Given the description of an element on the screen output the (x, y) to click on. 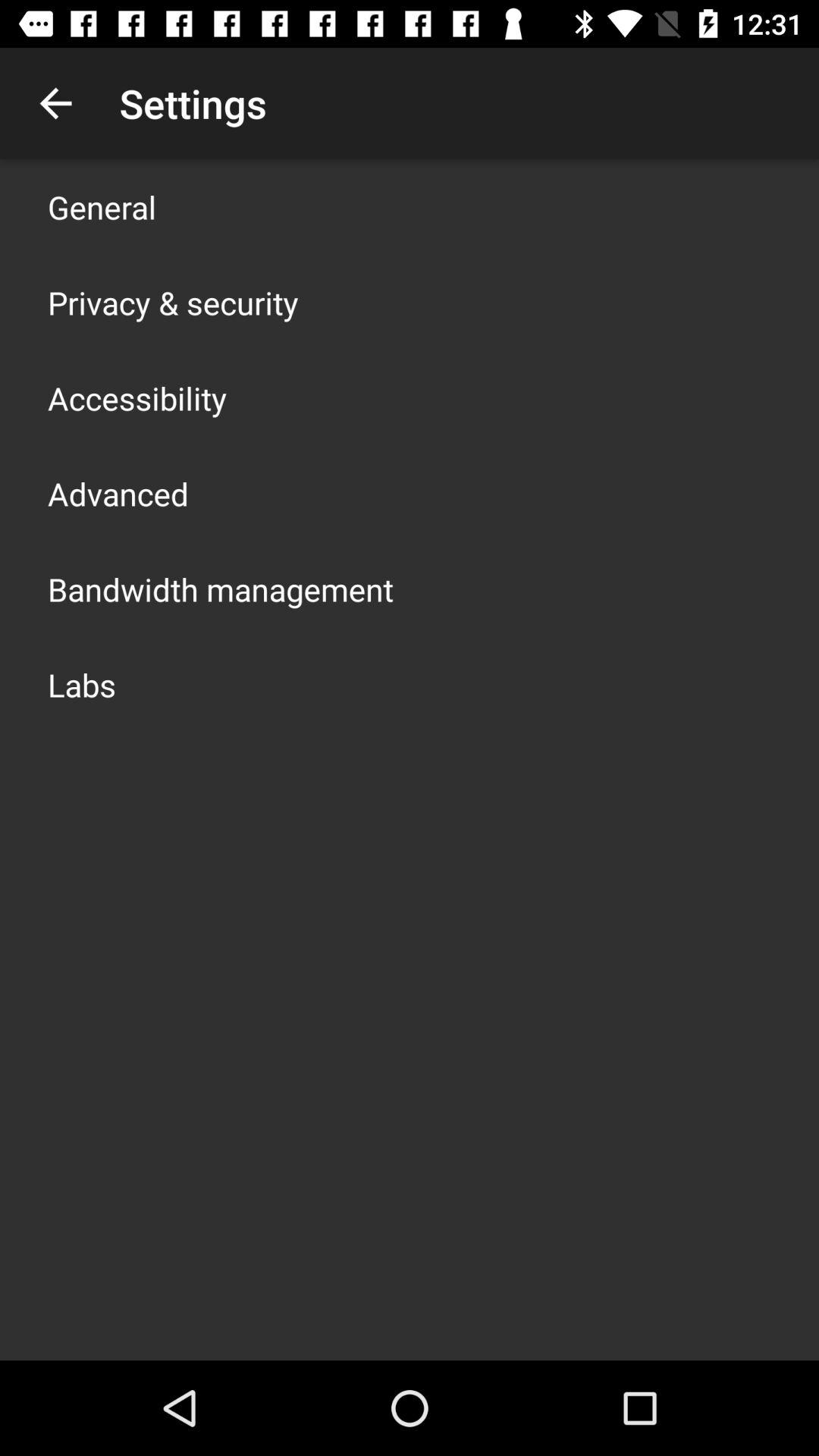
select the icon above bandwidth management app (117, 493)
